Given the description of an element on the screen output the (x, y) to click on. 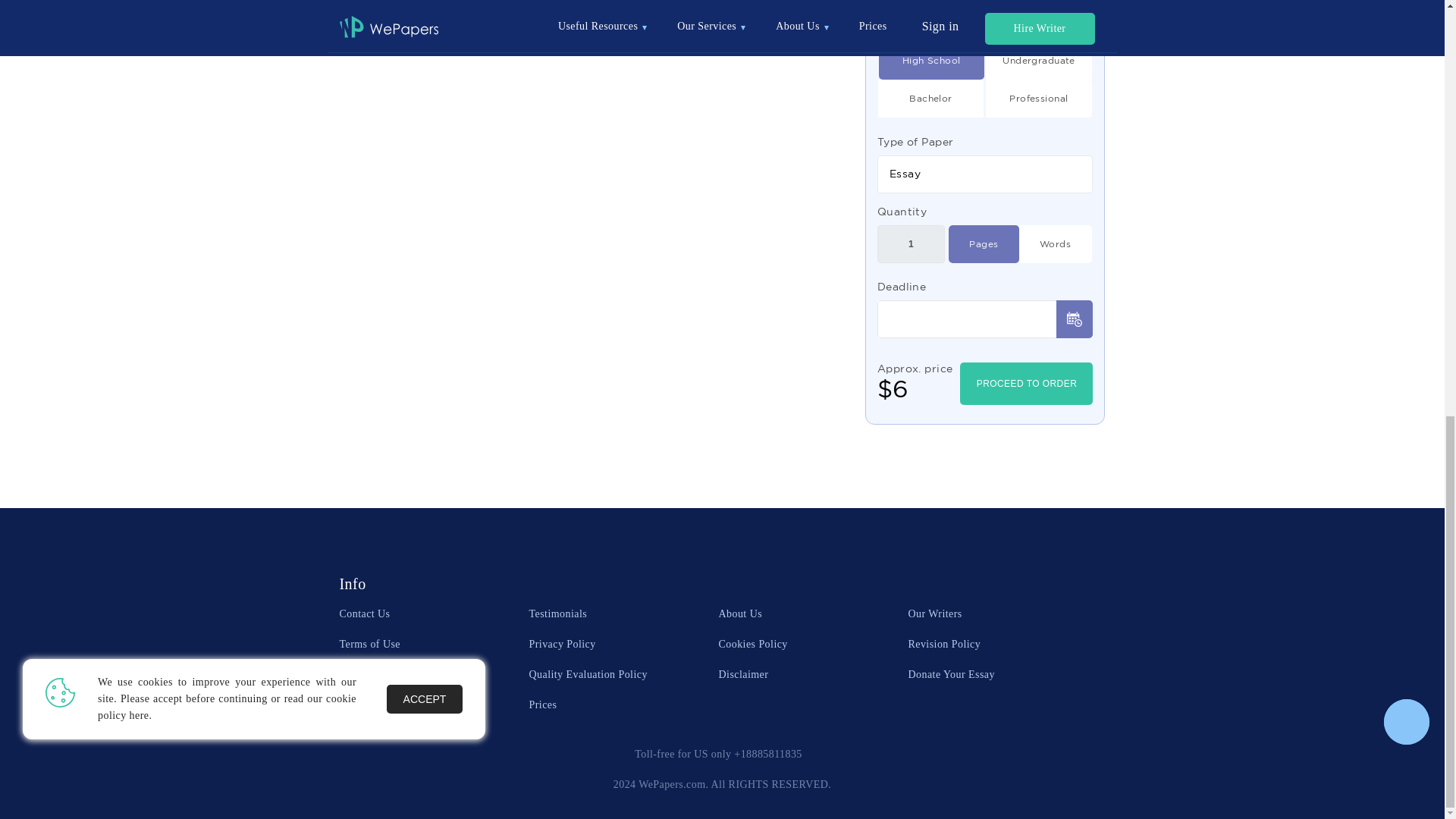
4 (1038, 98)
1 (910, 243)
Essay (985, 173)
on (1054, 243)
3 (931, 98)
1 (1038, 60)
6 (931, 60)
on (983, 243)
